Given the description of an element on the screen output the (x, y) to click on. 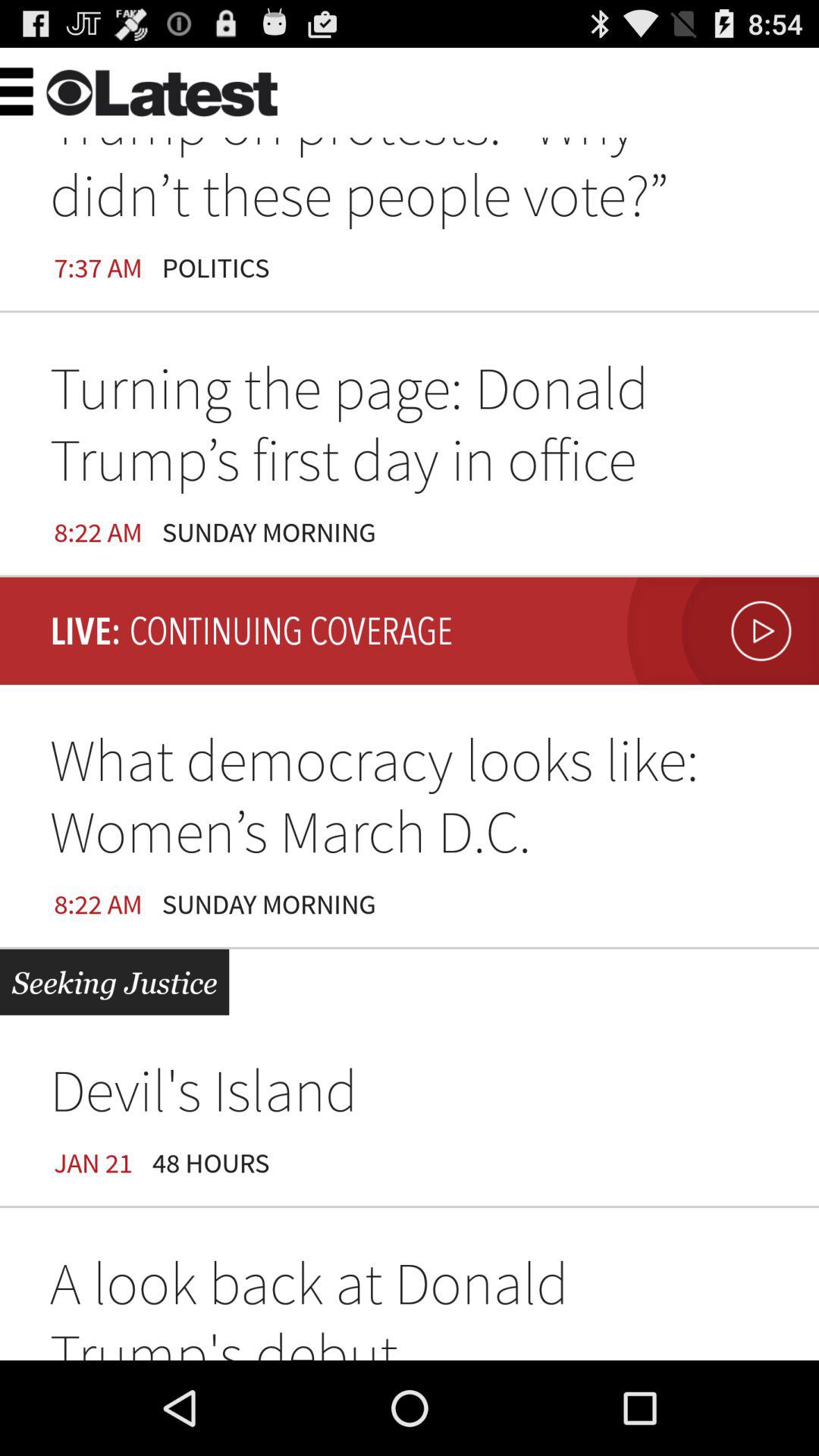
play video (719, 630)
